Given the description of an element on the screen output the (x, y) to click on. 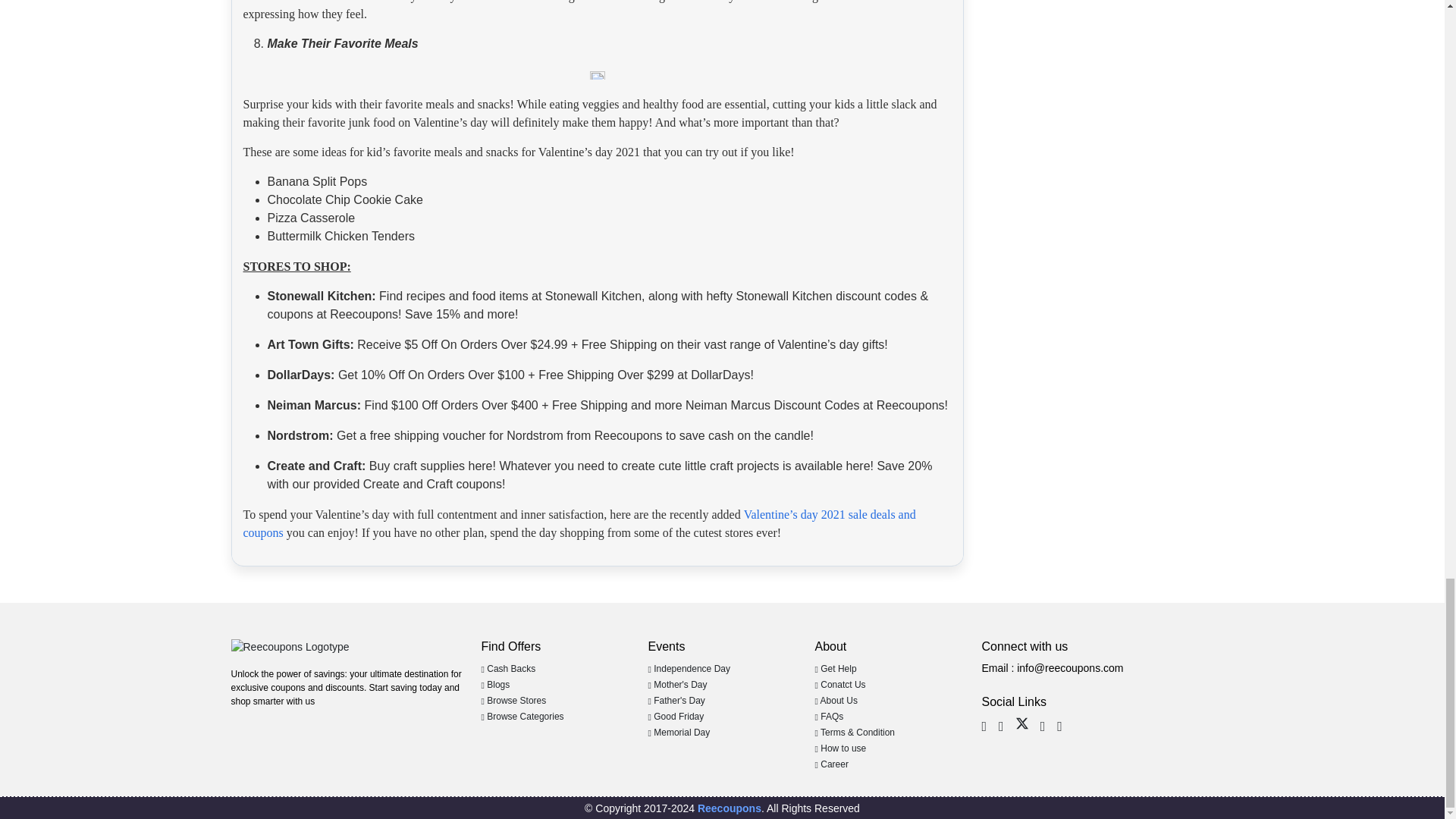
Mother's Day (676, 684)
Independence Day (688, 668)
Good Friday (675, 716)
Memorial Day (678, 732)
Father's Day (675, 700)
